Given the description of an element on the screen output the (x, y) to click on. 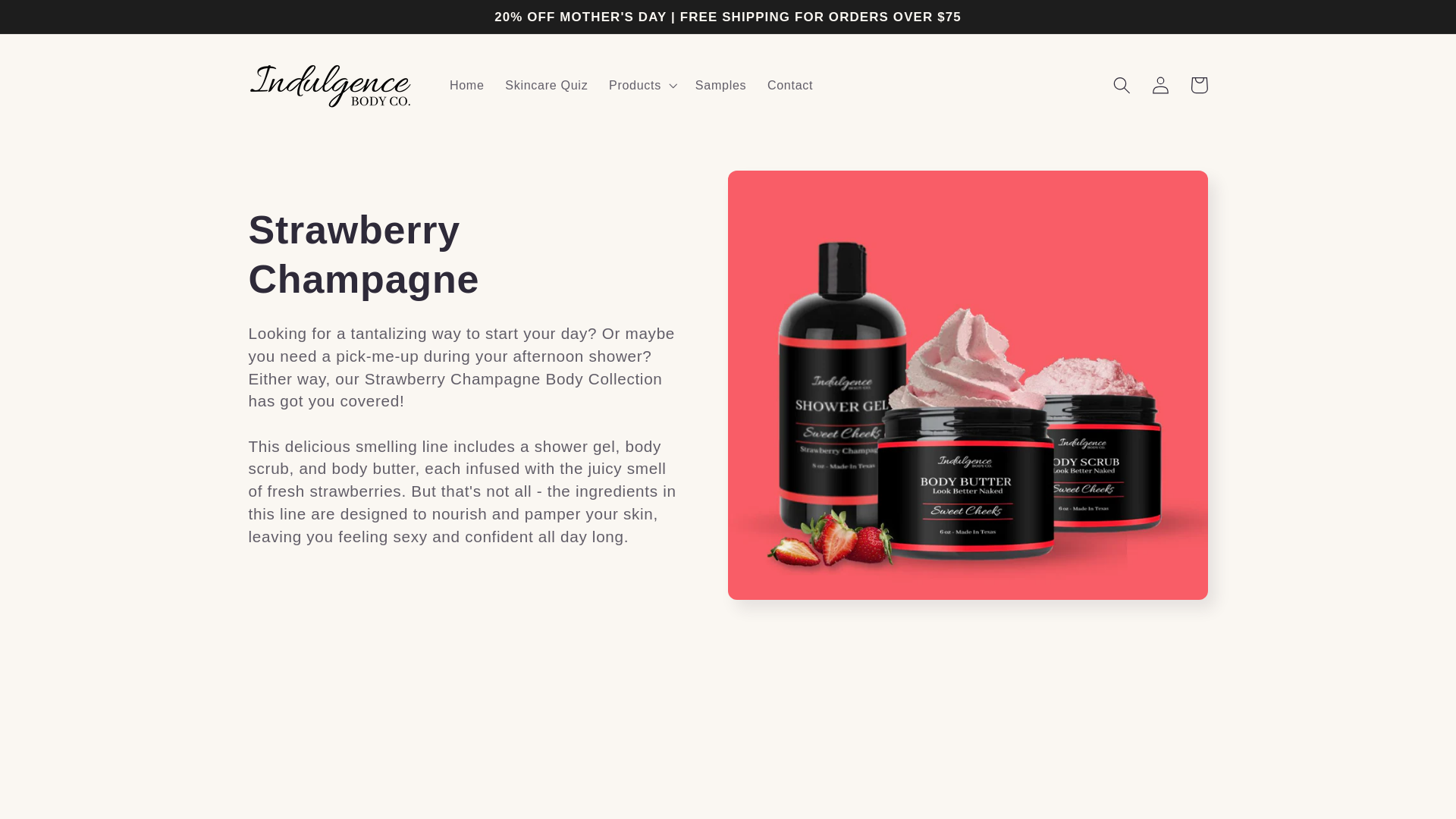
Home (467, 84)
Skincare Quiz (546, 84)
Skip to content (52, 20)
Log in (1160, 85)
Contact (790, 84)
Cart (1198, 85)
Samples (720, 84)
